Given the description of an element on the screen output the (x, y) to click on. 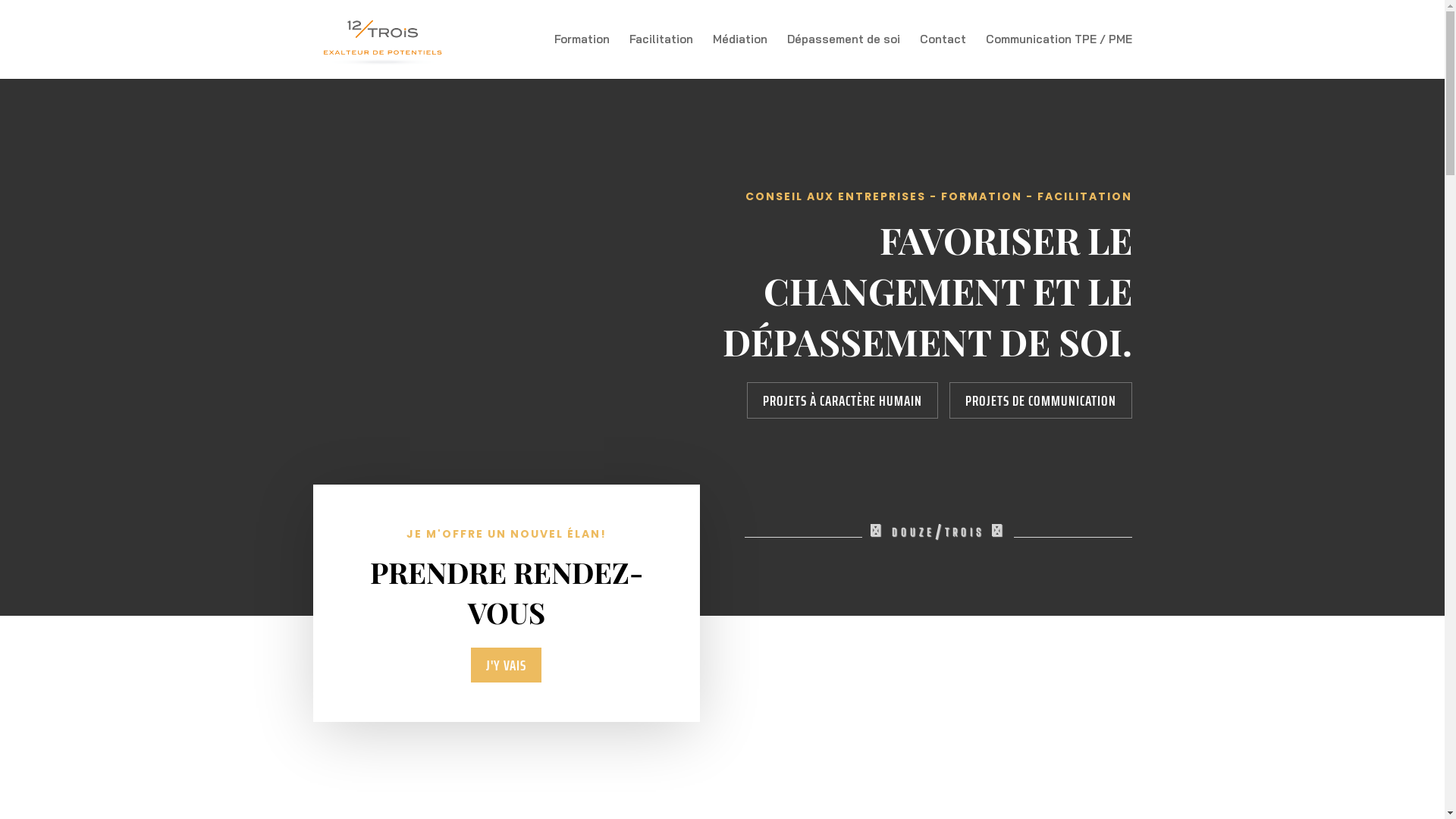
J'Y VAIS Element type: text (505, 664)
Contact Element type: text (942, 56)
Communication TPE / PME Element type: text (1058, 56)
PROJETS DE COMMUNICATION Element type: text (1040, 400)
Formation Element type: text (580, 56)
Facilitation Element type: text (661, 56)
